Given the description of an element on the screen output the (x, y) to click on. 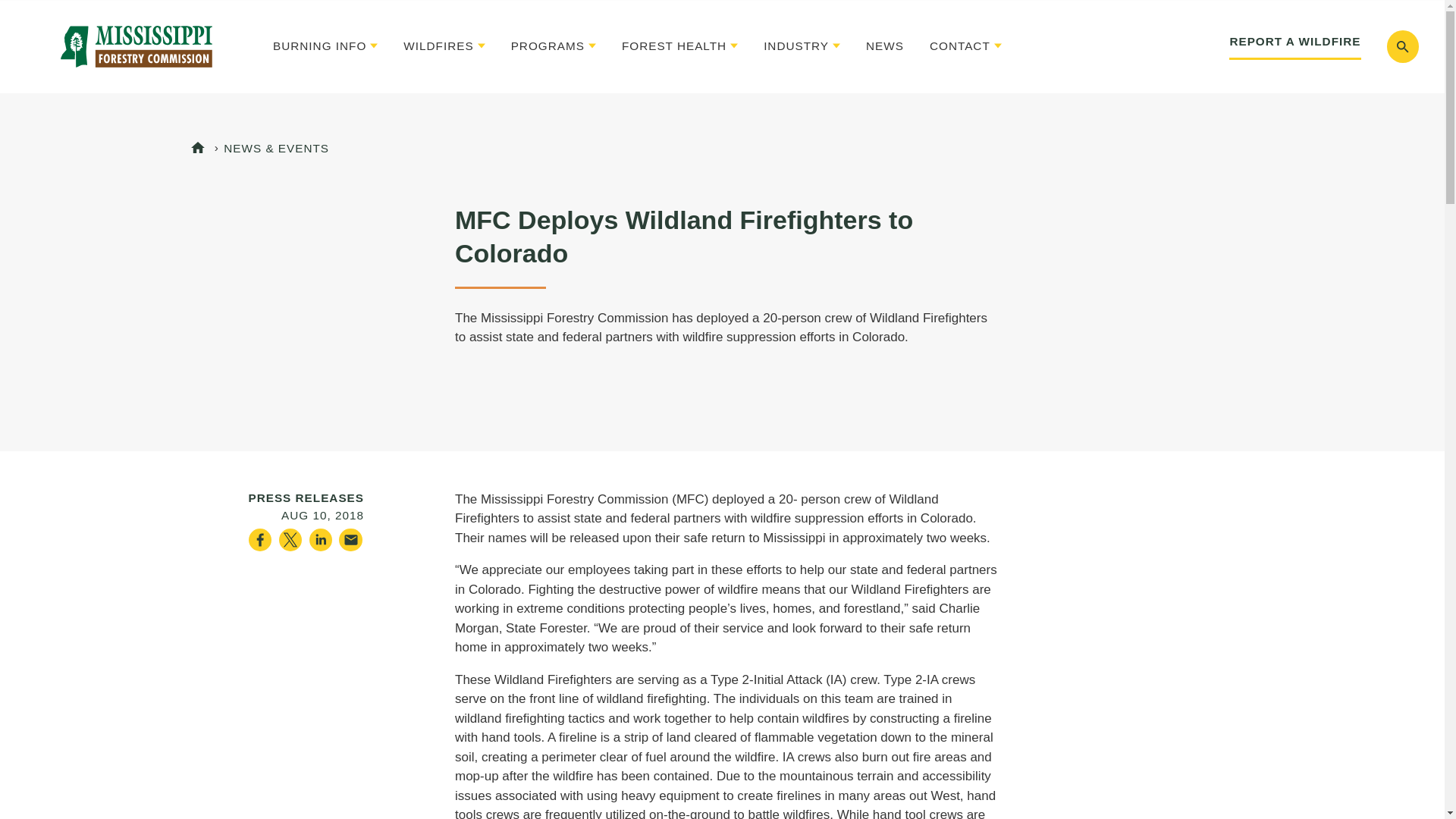
Mad Genius (136, 46)
PROGRAMS (553, 46)
REPORT A WILDFIRE (1293, 45)
INDUSTRY (801, 46)
NEWS (885, 46)
WILDFIRES (443, 46)
CONTACT (965, 46)
Search Toggle (1402, 46)
FOREST HEALTH (679, 46)
BURNING INFO (325, 46)
Mississippi Forestry Commission (136, 46)
